Given the description of an element on the screen output the (x, y) to click on. 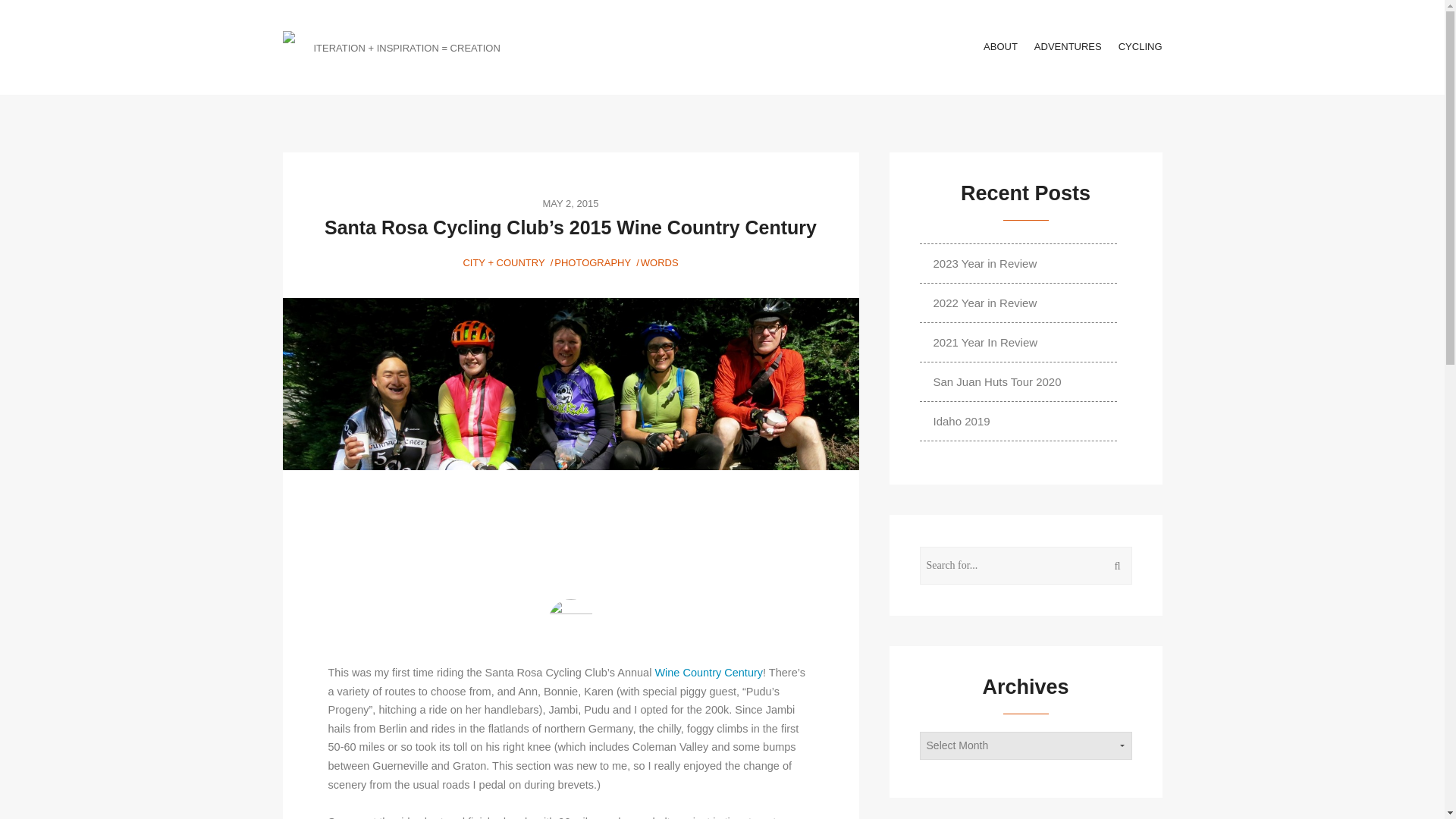
Search for... (1026, 565)
Jenny Oh Hatfield (570, 621)
ADVENTURES (1067, 45)
WORDS (659, 262)
Wine Country Century (707, 672)
CYCLING (1139, 45)
ABOUT (1000, 45)
PHOTOGRAPHY (592, 262)
Search for... (1026, 565)
